Given the description of an element on the screen output the (x, y) to click on. 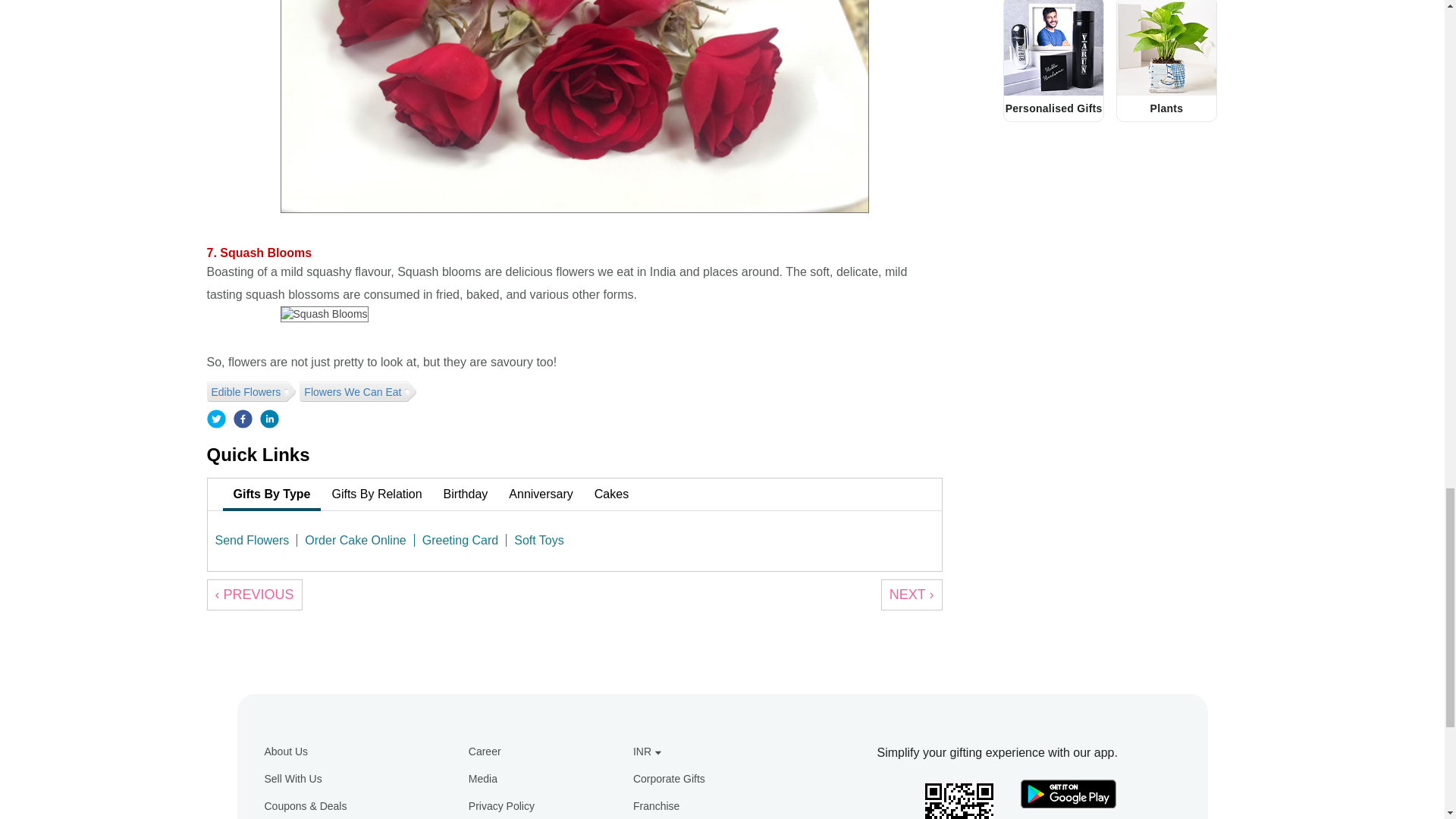
Edible Flowers (247, 391)
Squash Blooms (324, 313)
Birthday (465, 494)
Gifts By Relation (376, 494)
Gifts By Type (271, 494)
Flowers We Can Eat (354, 391)
Anniversary (540, 494)
Rose (575, 106)
